Given the description of an element on the screen output the (x, y) to click on. 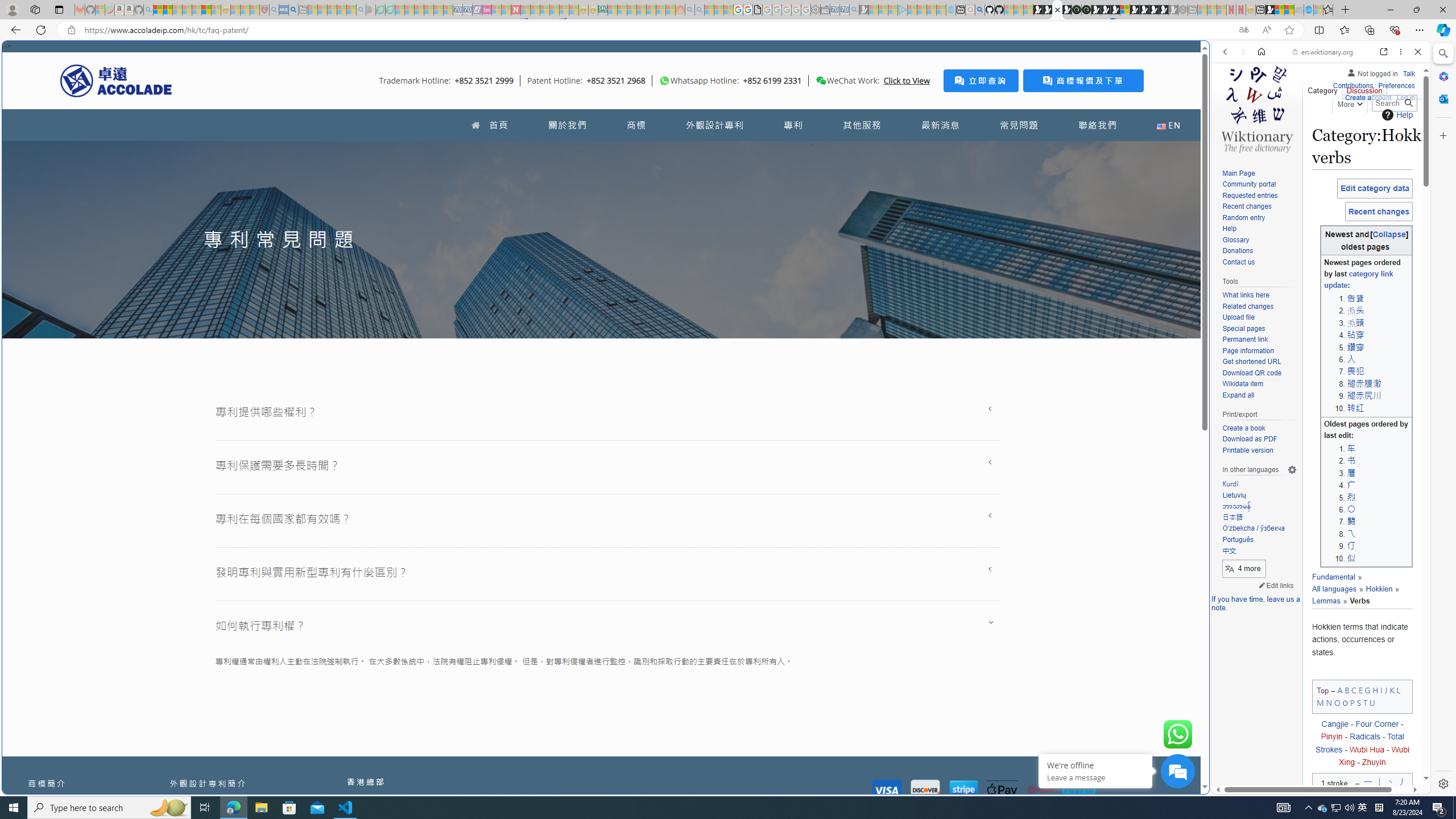
Sign in to your account (1124, 9)
What links here (1259, 295)
O (1336, 701)
Contributions (1352, 84)
Fundamental (1333, 576)
